Given the description of an element on the screen output the (x, y) to click on. 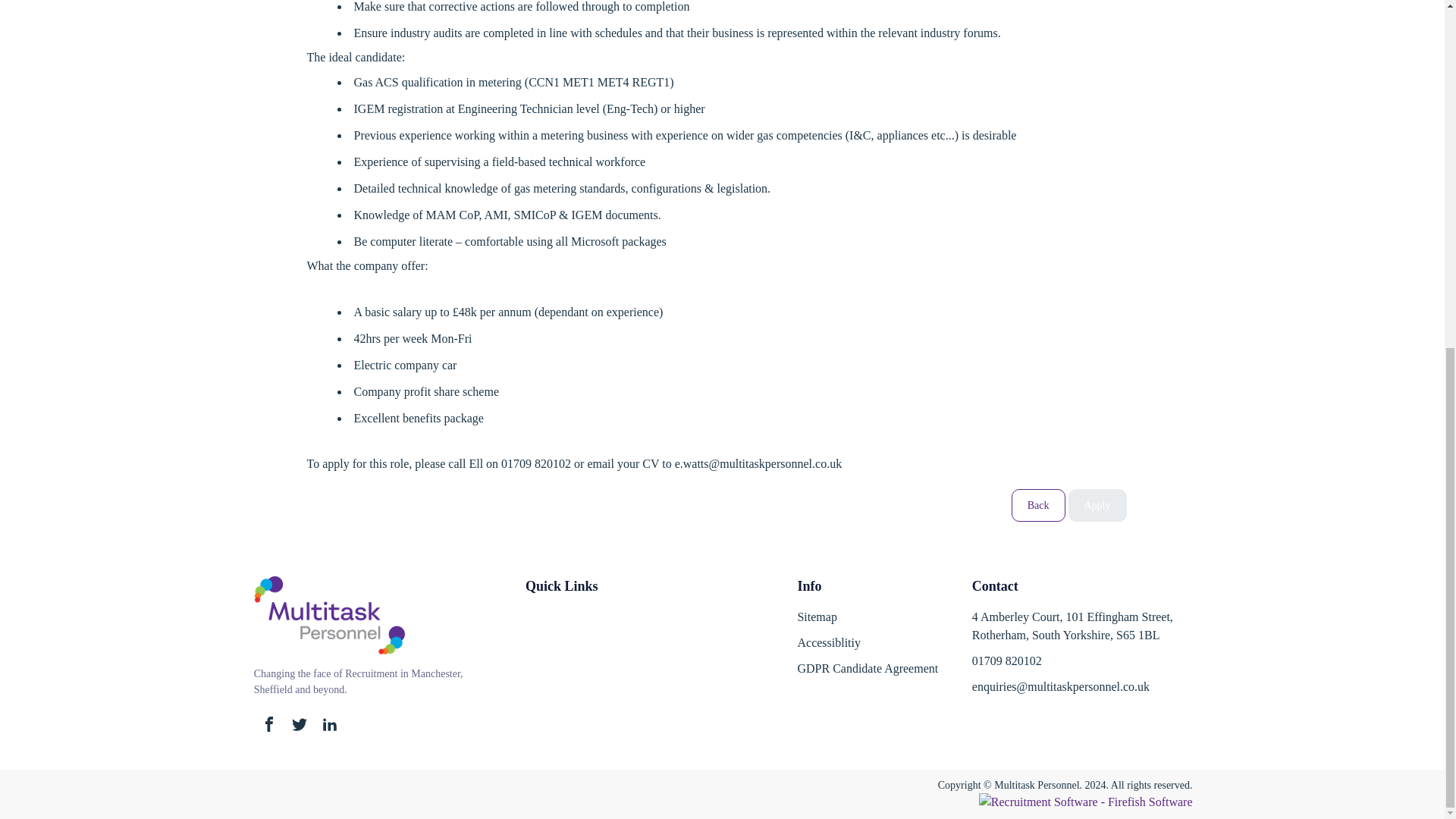
Accessiblitiy (868, 646)
Sitemap (868, 620)
Back (1038, 504)
Apply (1096, 504)
GDPR Candidate Agreement (868, 672)
Recruitment Software - Firefish Software (1085, 801)
01709 820102 (1007, 660)
Back (1038, 504)
